Given the description of an element on the screen output the (x, y) to click on. 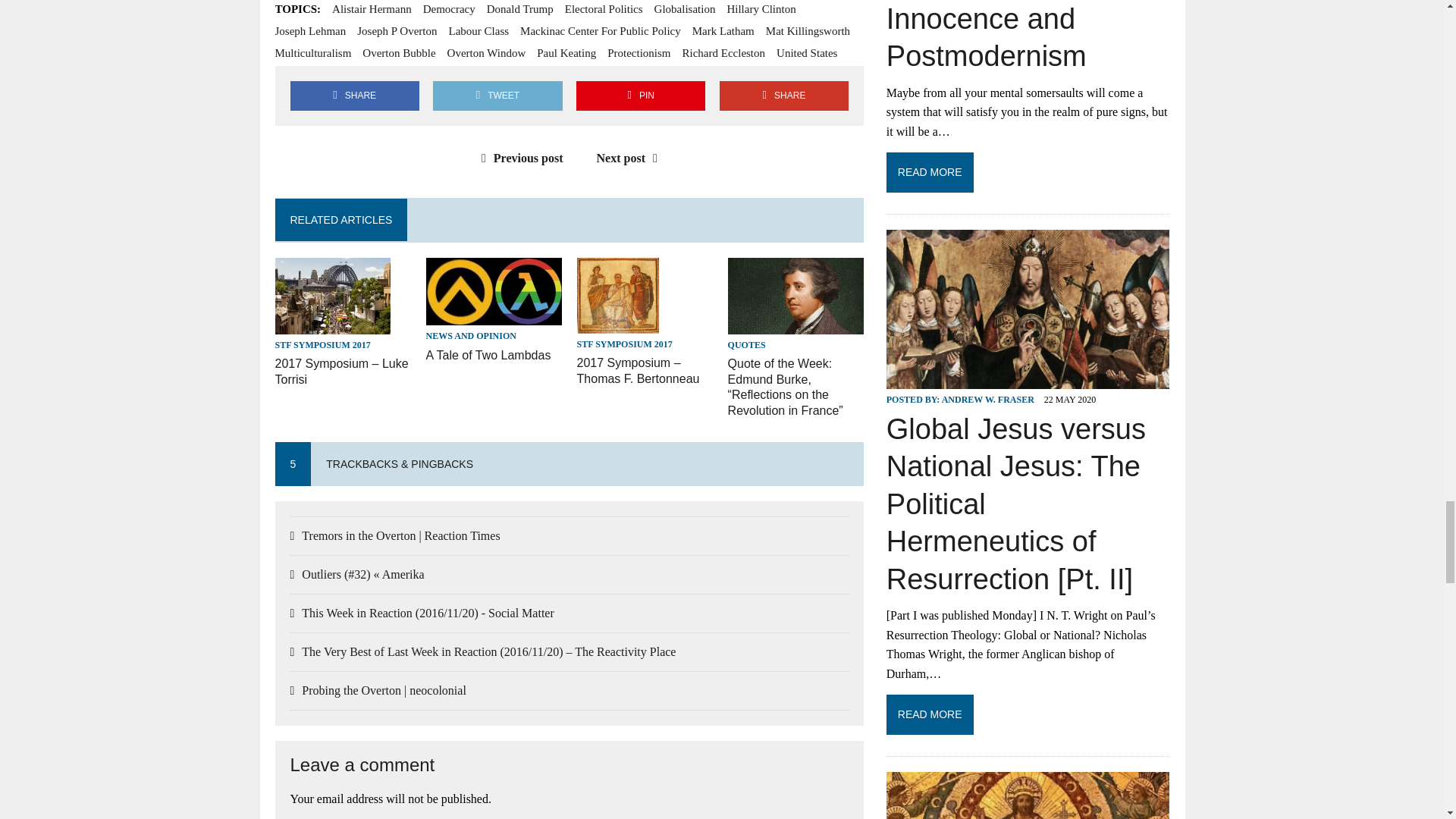
Tweet This Post (497, 95)
Share on Facebook (354, 95)
A Tale of Two Lambdas (488, 354)
A Tale of Two Lambdas (494, 315)
Pin This Post (640, 95)
